Given the description of an element on the screen output the (x, y) to click on. 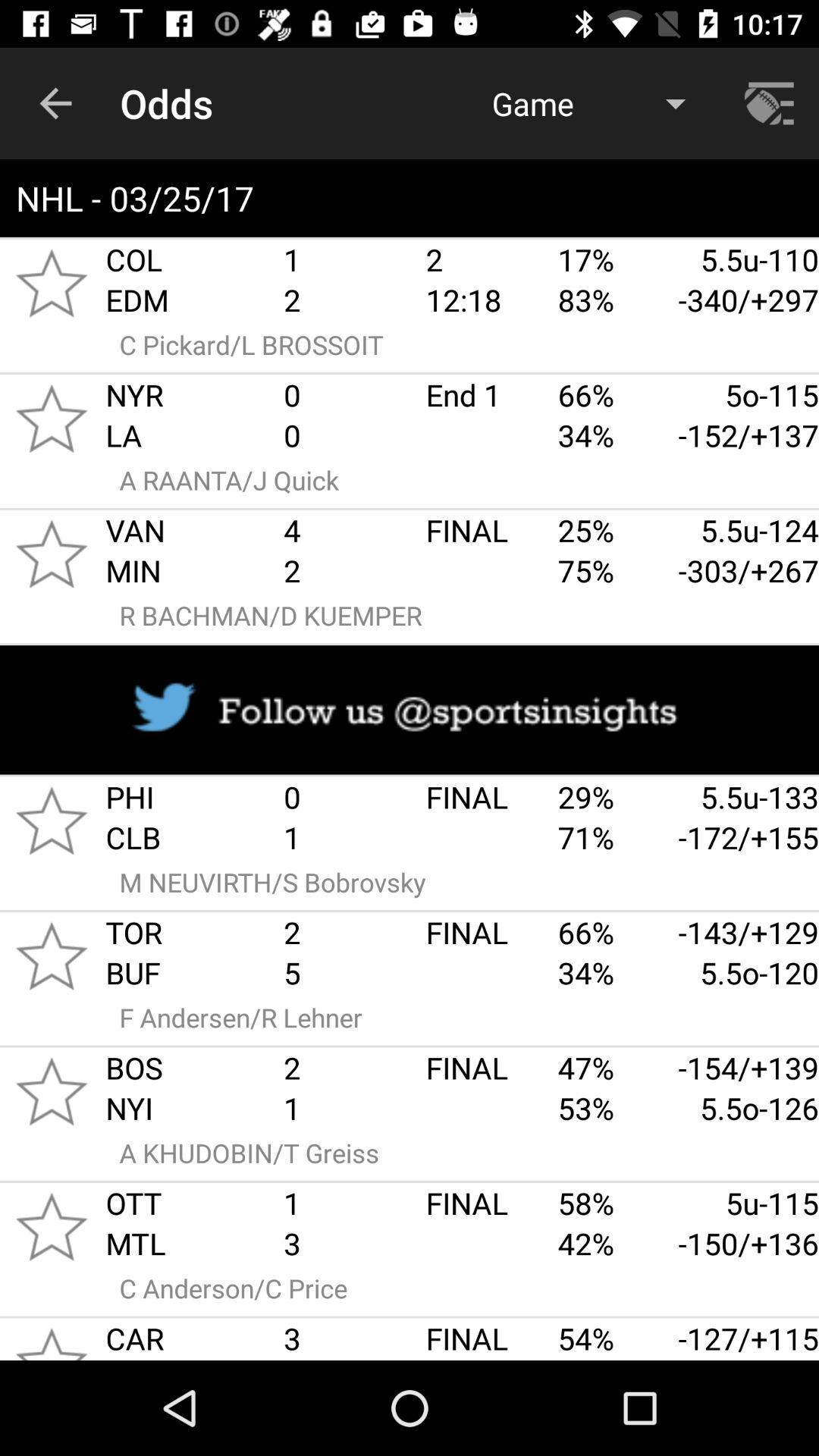
click to follow twitter page (409, 709)
